Given the description of an element on the screen output the (x, y) to click on. 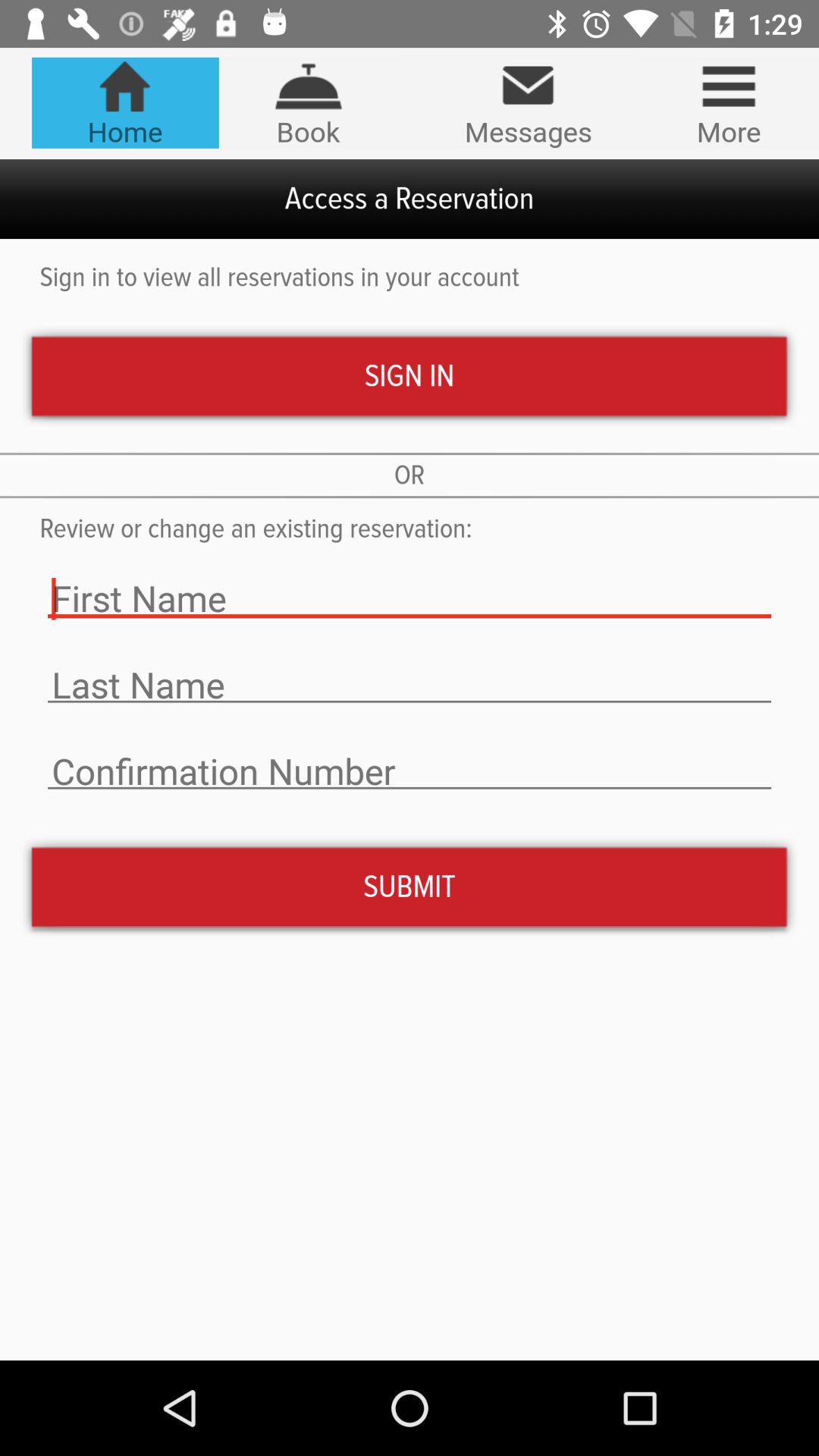
launch the more at the top right corner (728, 102)
